Given the description of an element on the screen output the (x, y) to click on. 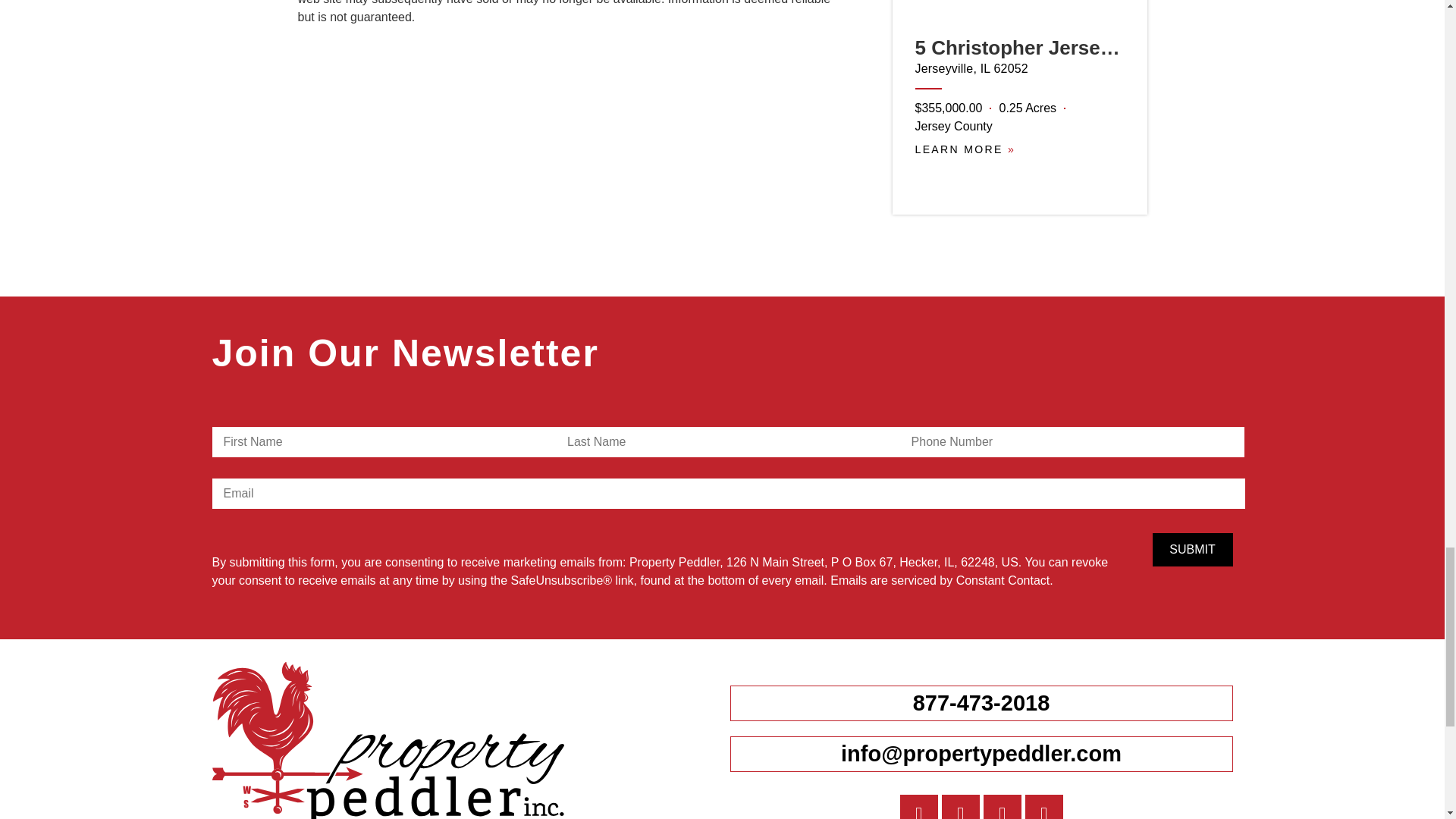
Submit (1193, 549)
